Given the description of an element on the screen output the (x, y) to click on. 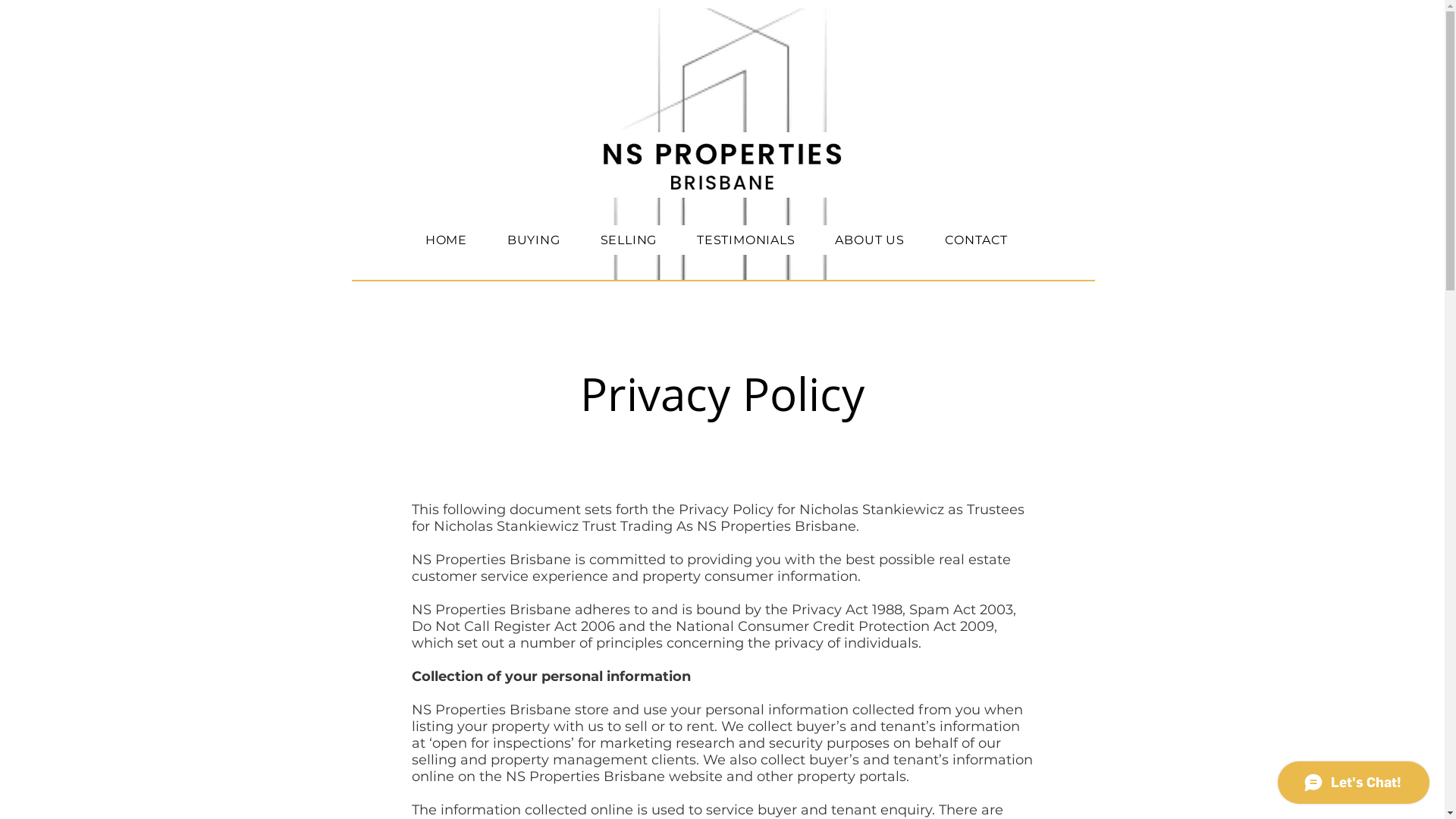
SELLING Element type: text (628, 239)
HOME Element type: text (445, 239)
ABOUT US Element type: text (869, 239)
TESTIMONIALS Element type: text (746, 239)
BUYING Element type: text (533, 239)
CONTACT Element type: text (975, 239)
